Given the description of an element on the screen output the (x, y) to click on. 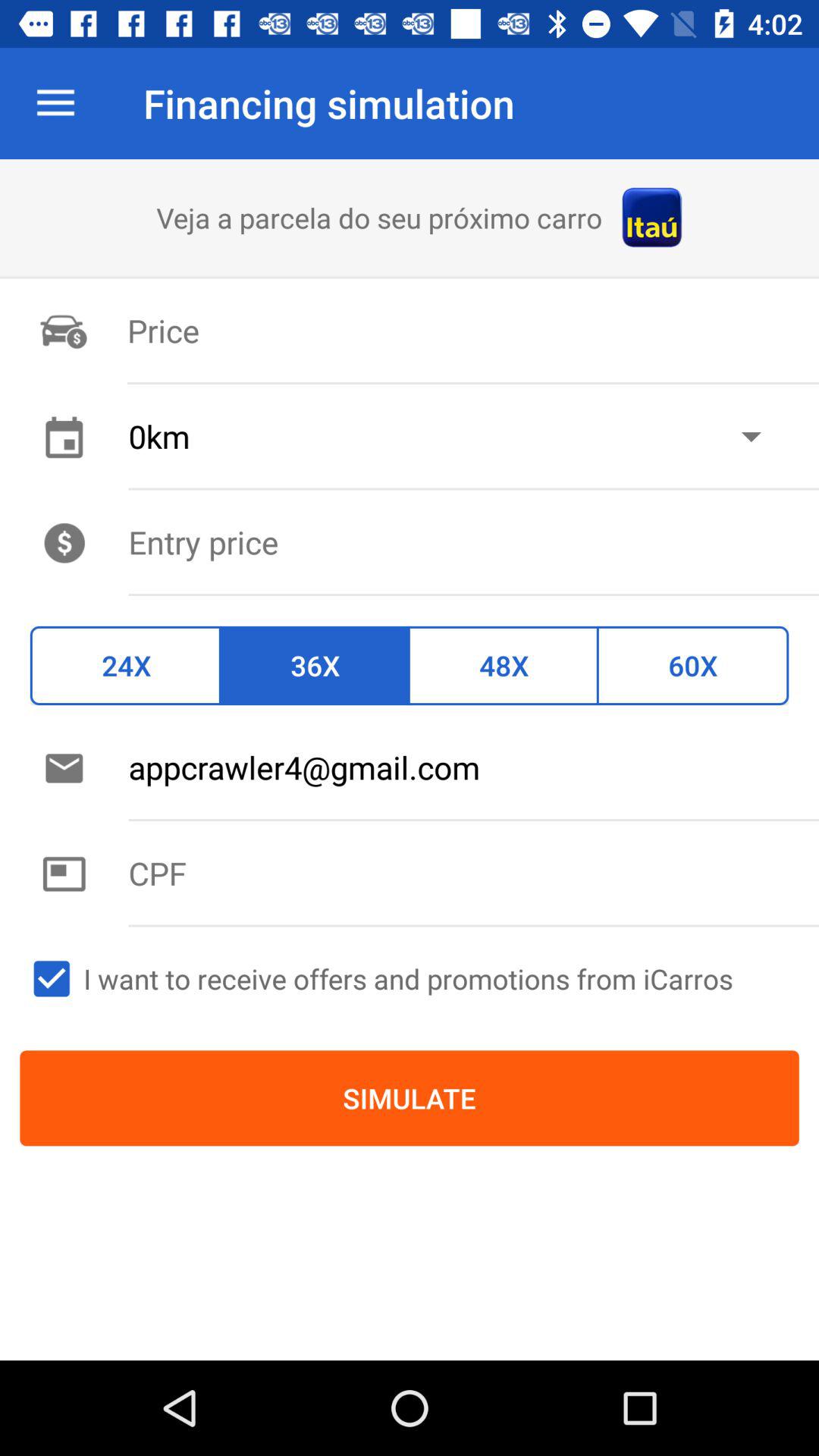
price text input field (473, 541)
